Given the description of an element on the screen output the (x, y) to click on. 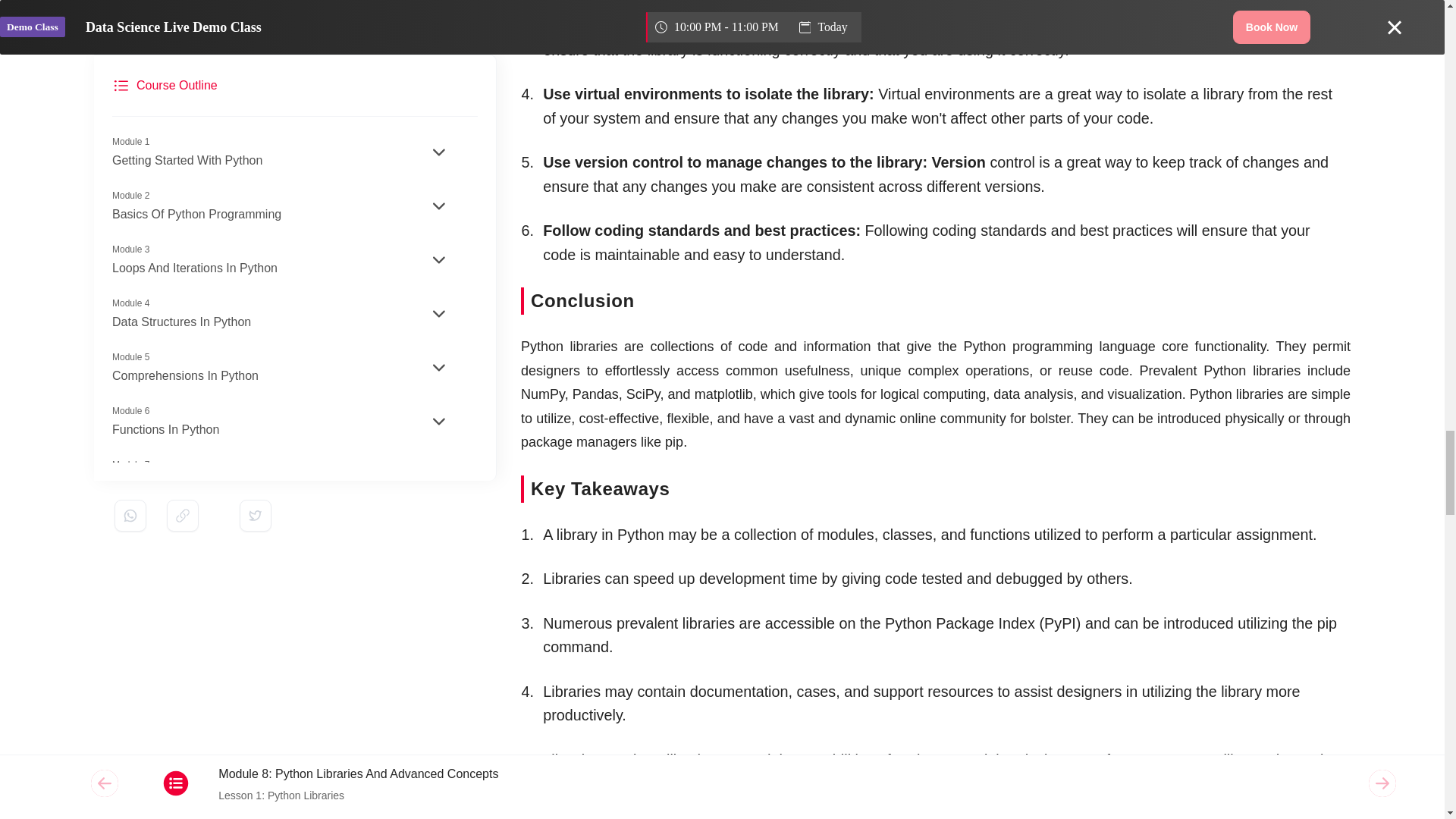
Conclusion (936, 300)
Key Takeaways (936, 488)
